Given the description of an element on the screen output the (x, y) to click on. 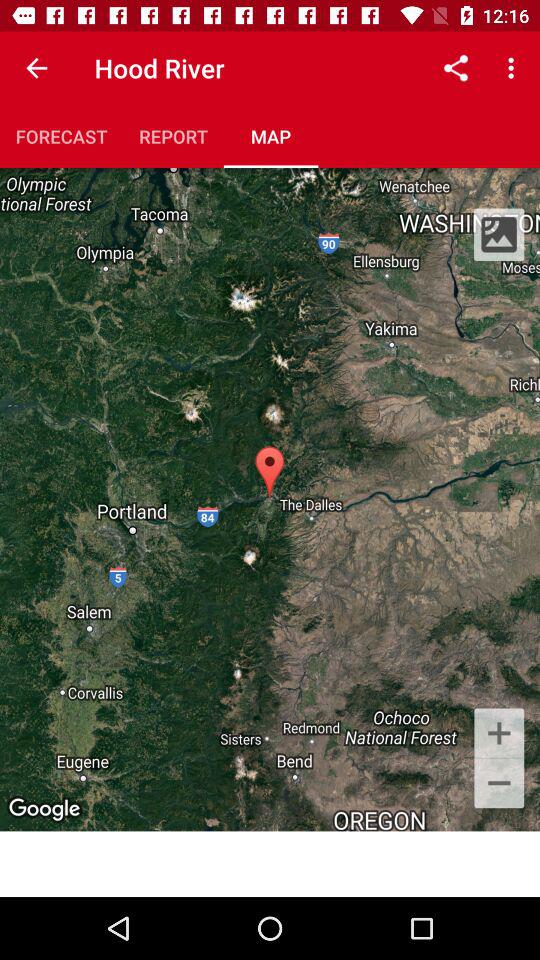
click item next to the hood river item (455, 67)
